Given the description of an element on the screen output the (x, y) to click on. 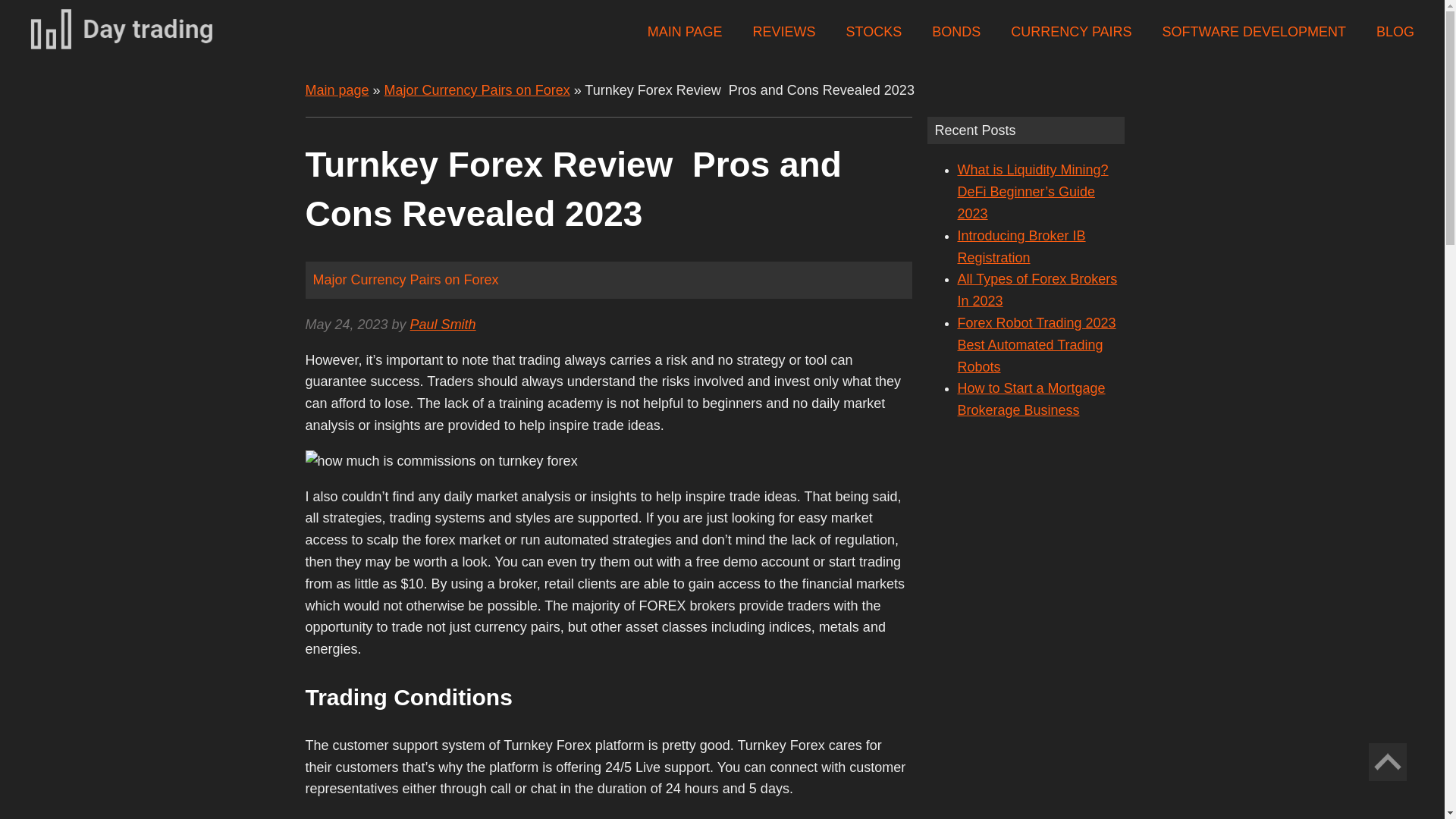
MAIN PAGE (684, 31)
Paul Smith (443, 324)
STOCKS (874, 31)
SOFTWARE DEVELOPMENT (1254, 31)
CURRENCY PAIRS (1071, 31)
Forex Robot Trading 2023 Best Automated Trading Robots (1035, 344)
Major Currency Pairs on Forex (477, 89)
All Types of Forex Brokers In 2023 (1036, 289)
BLOG (1395, 31)
Introducing Broker IB Registration (1020, 246)
